Given the description of an element on the screen output the (x, y) to click on. 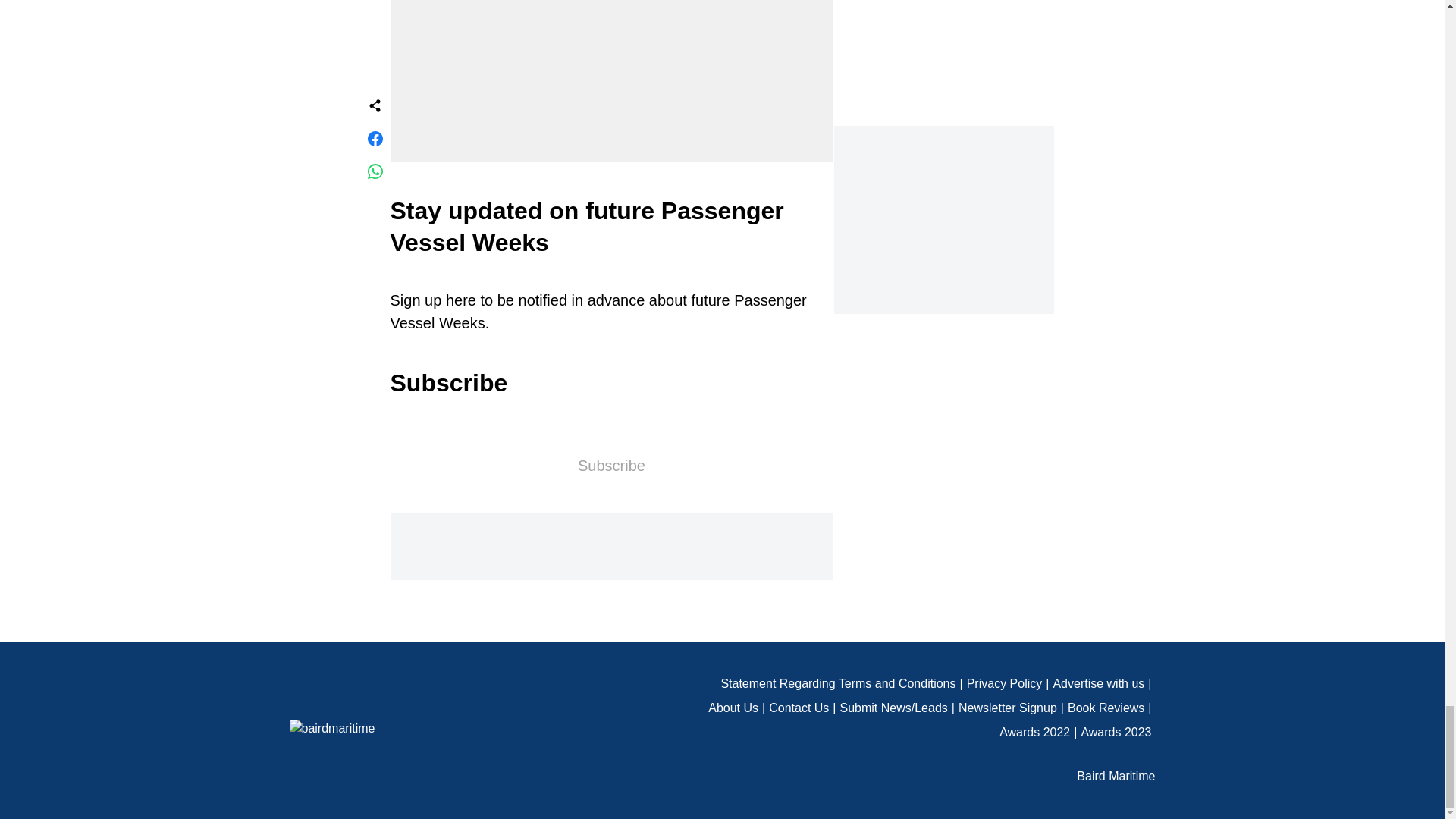
Subscribe (611, 465)
